Given the description of an element on the screen output the (x, y) to click on. 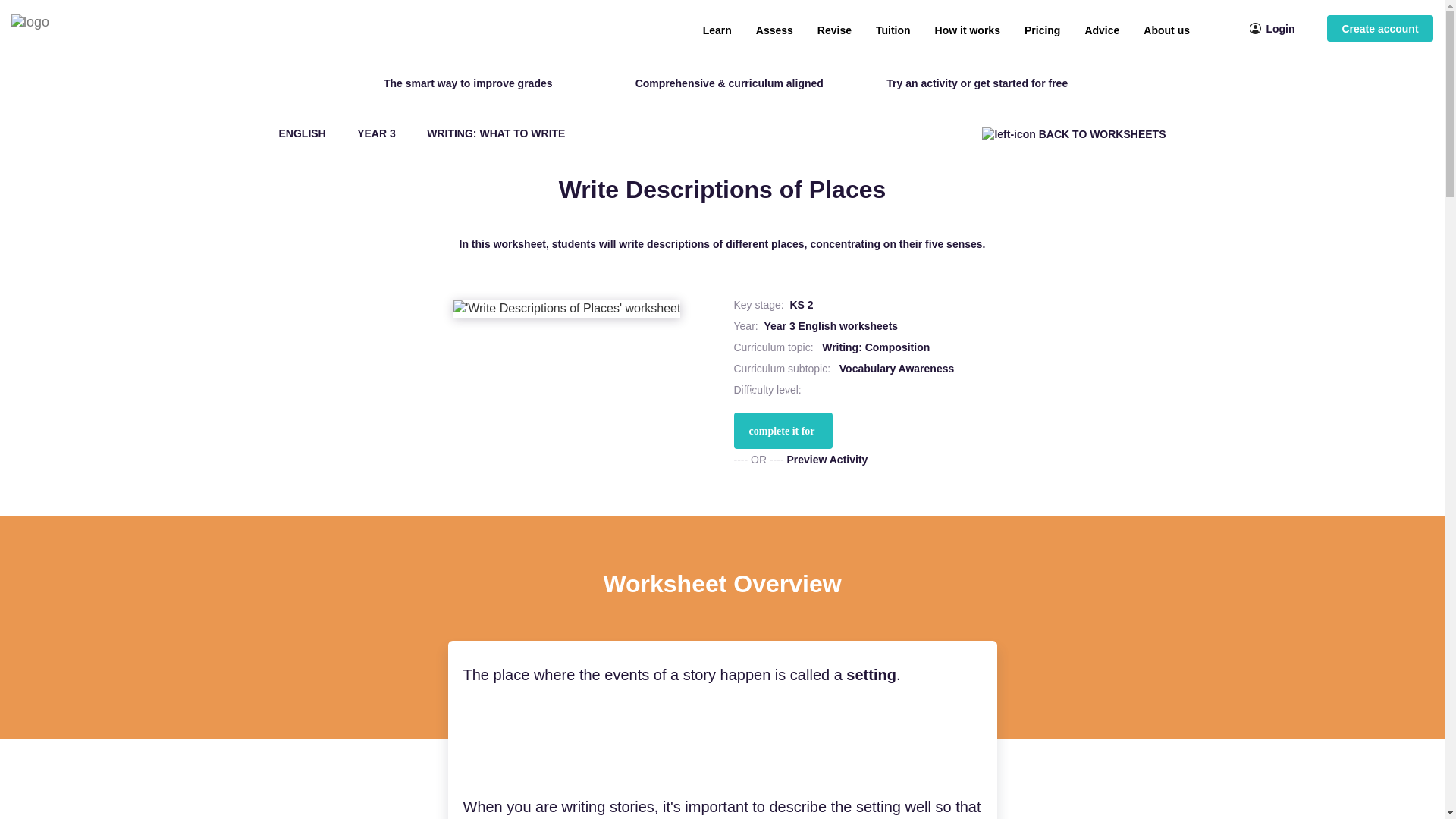
Learn (716, 30)
